Given the description of an element on the screen output the (x, y) to click on. 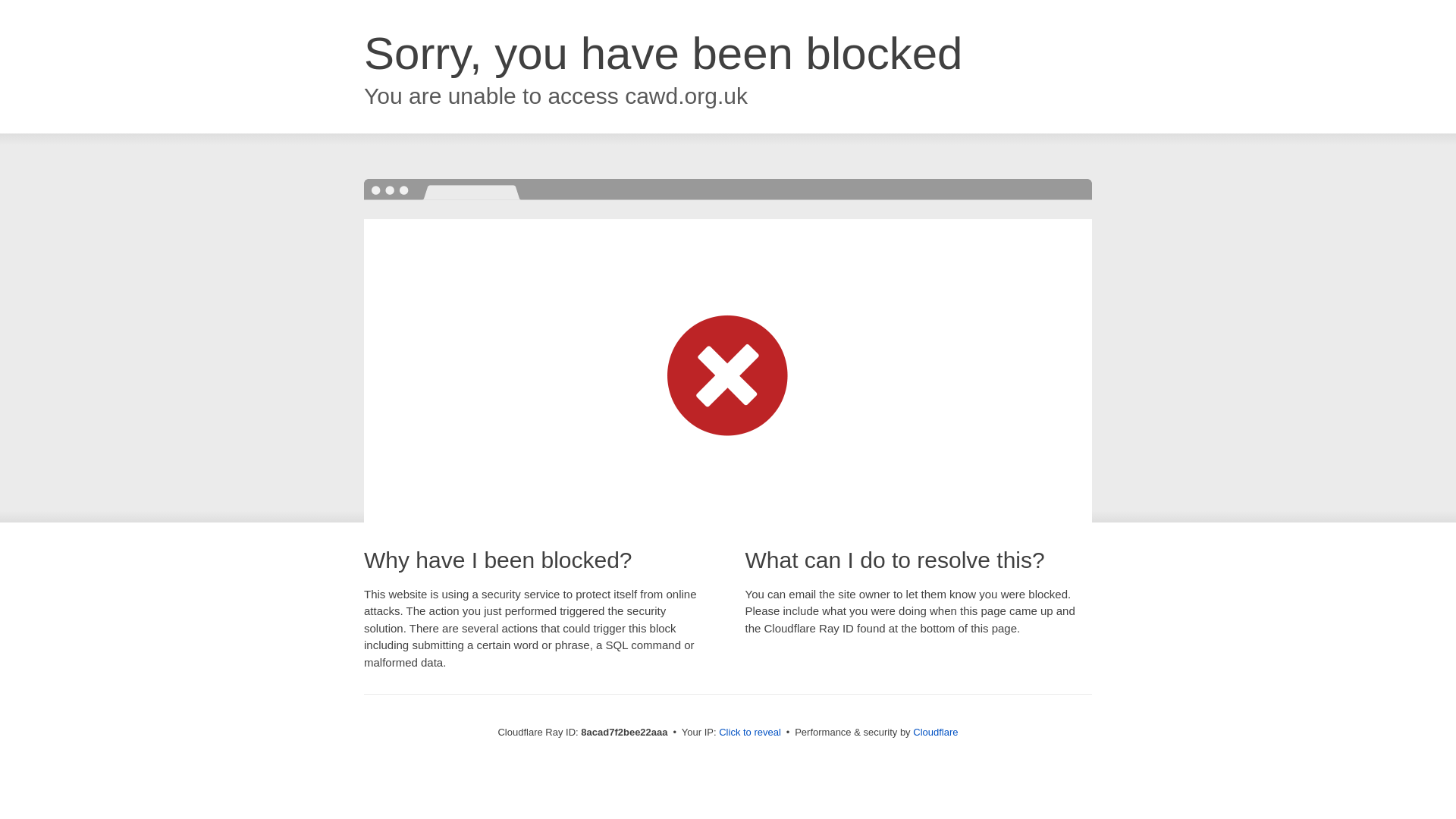
Cloudflare (935, 731)
Click to reveal (749, 732)
